Given the description of an element on the screen output the (x, y) to click on. 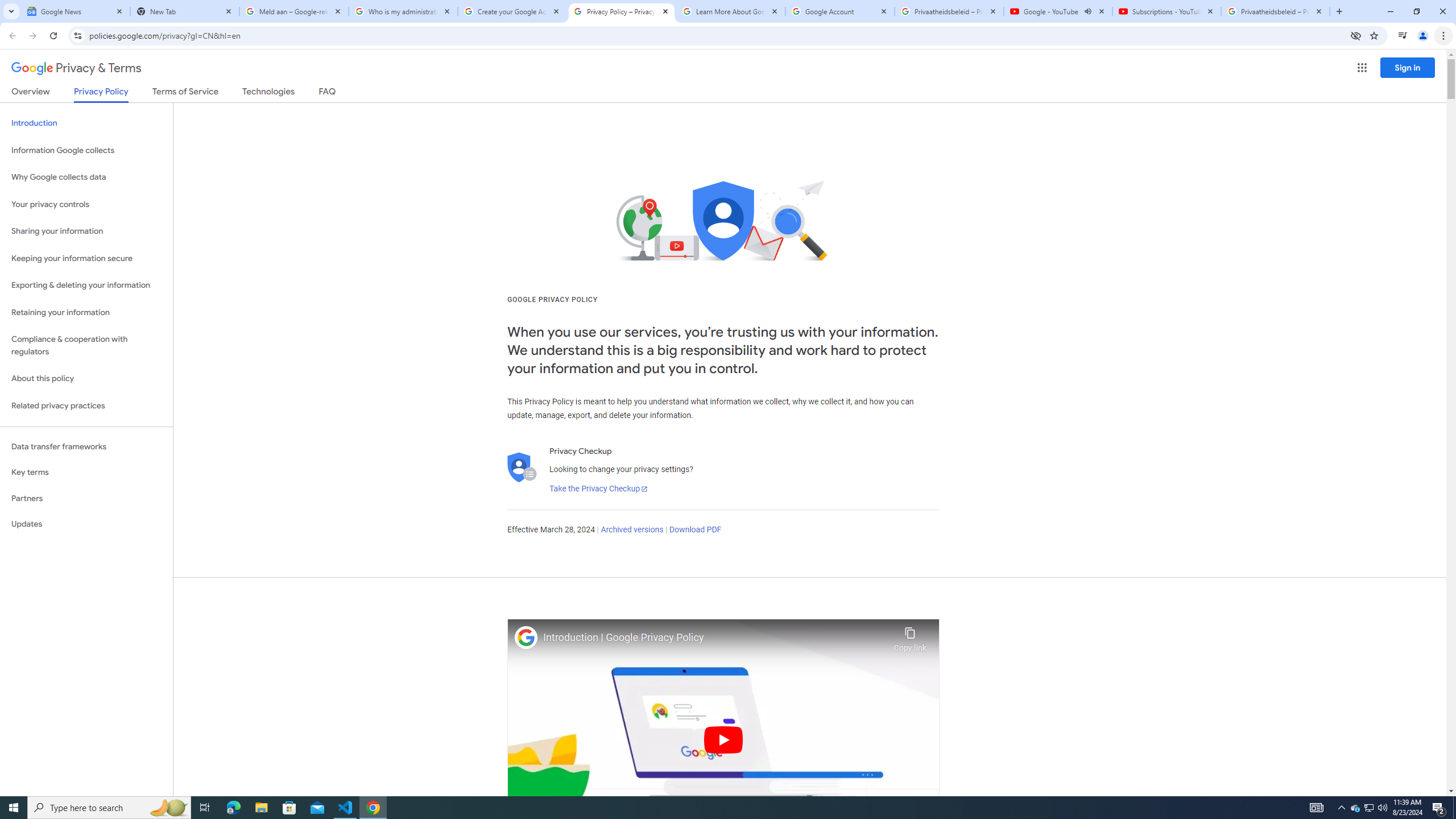
Play (723, 739)
Google News (75, 11)
